Given the description of an element on the screen output the (x, y) to click on. 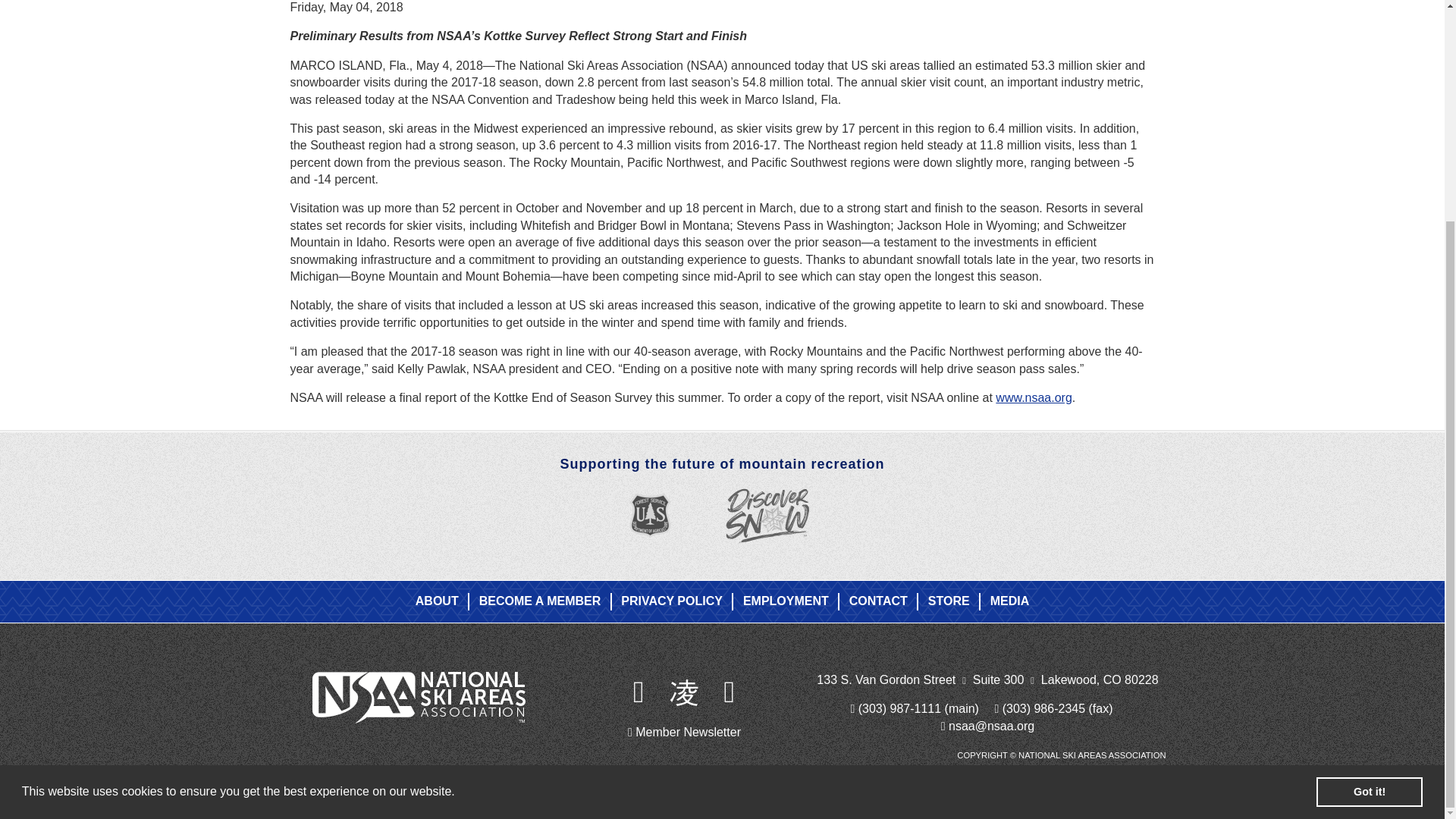
Got it! (1369, 498)
